Given the description of an element on the screen output the (x, y) to click on. 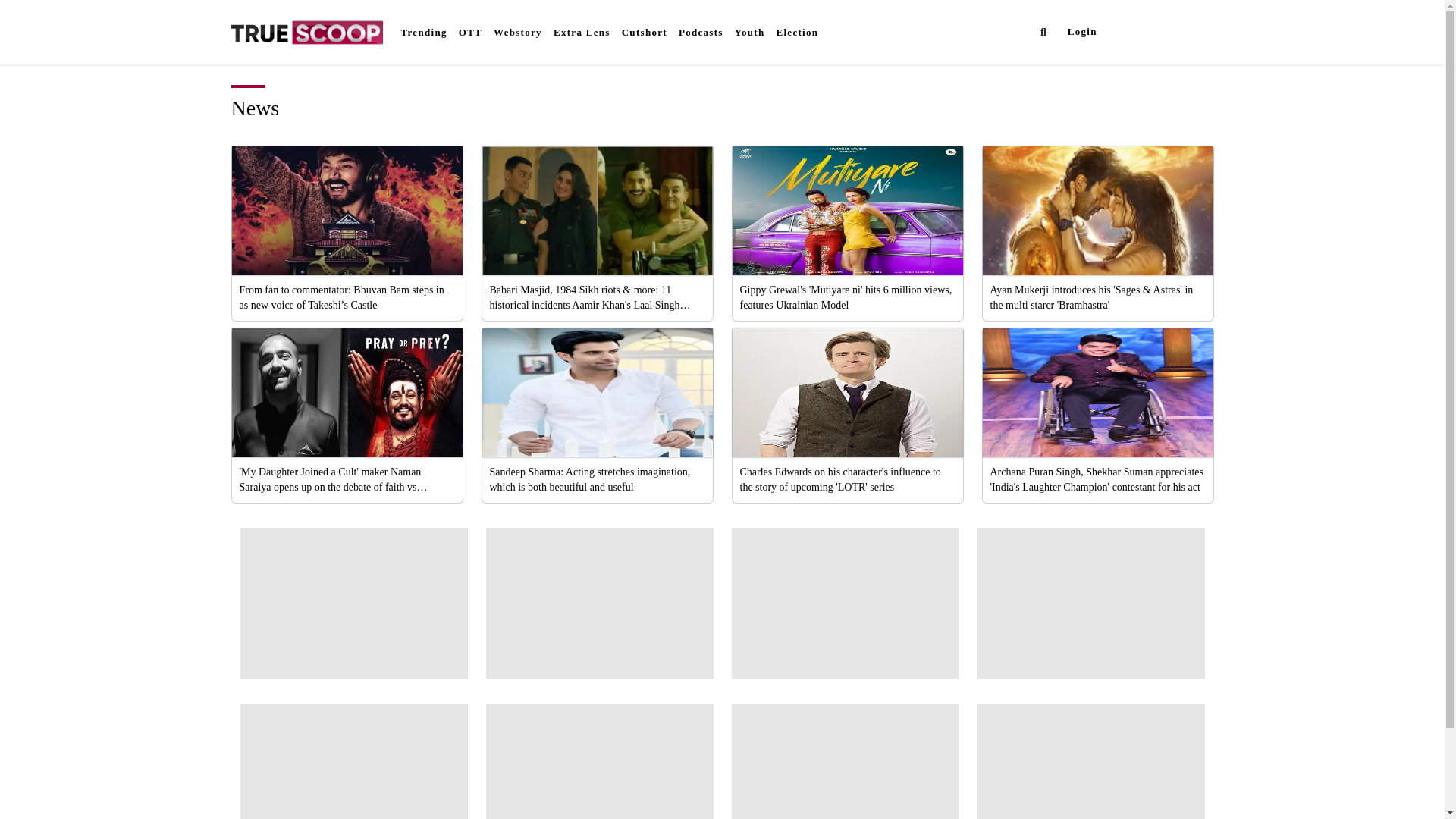
Scoop (1136, 31)
Cutshort (643, 31)
Youth (749, 31)
Podcasts (700, 31)
Extra Lens (581, 31)
Podcast (700, 31)
Webstory (517, 31)
Election (797, 31)
